Given the description of an element on the screen output the (x, y) to click on. 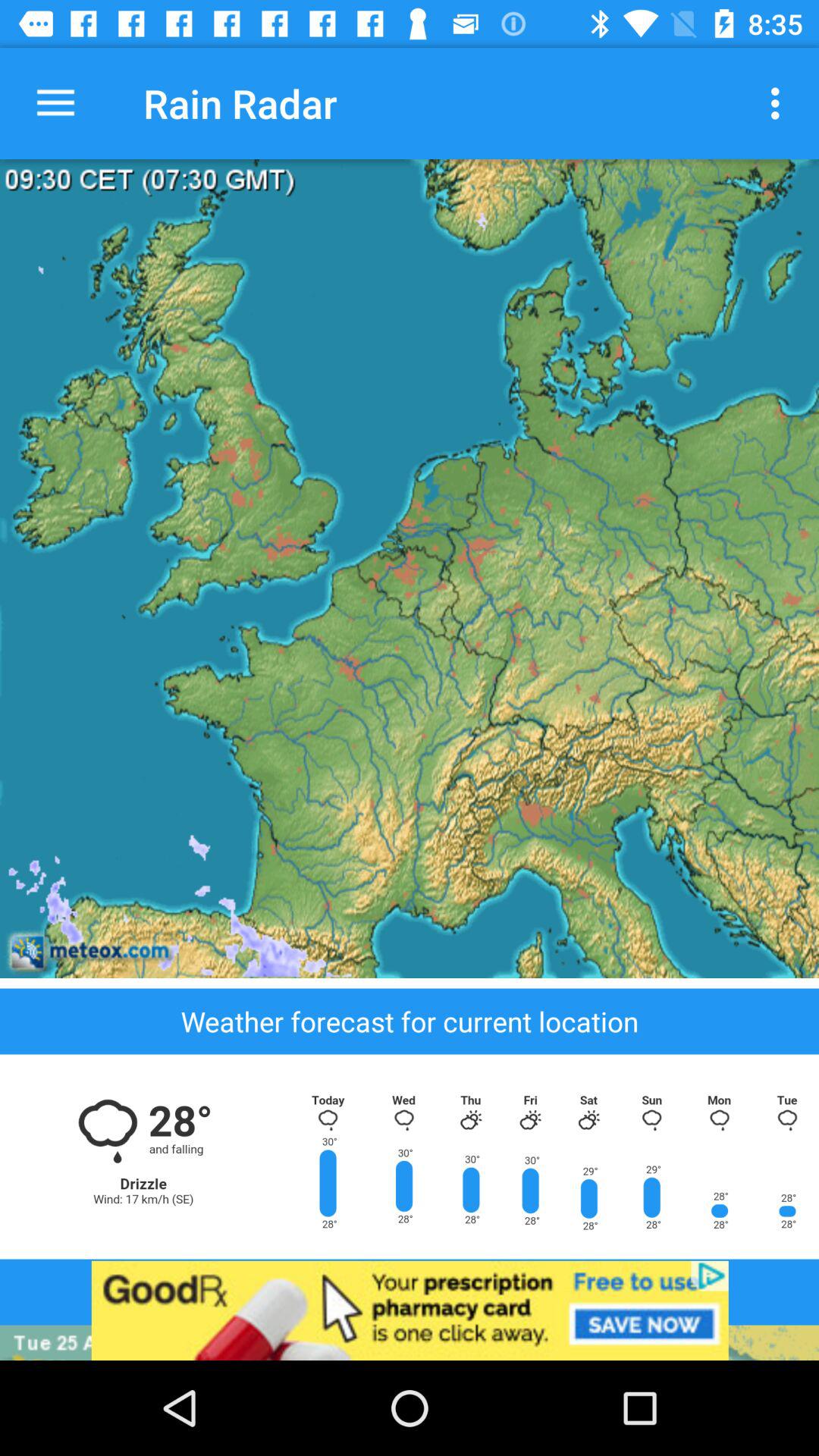
description (409, 568)
